Given the description of an element on the screen output the (x, y) to click on. 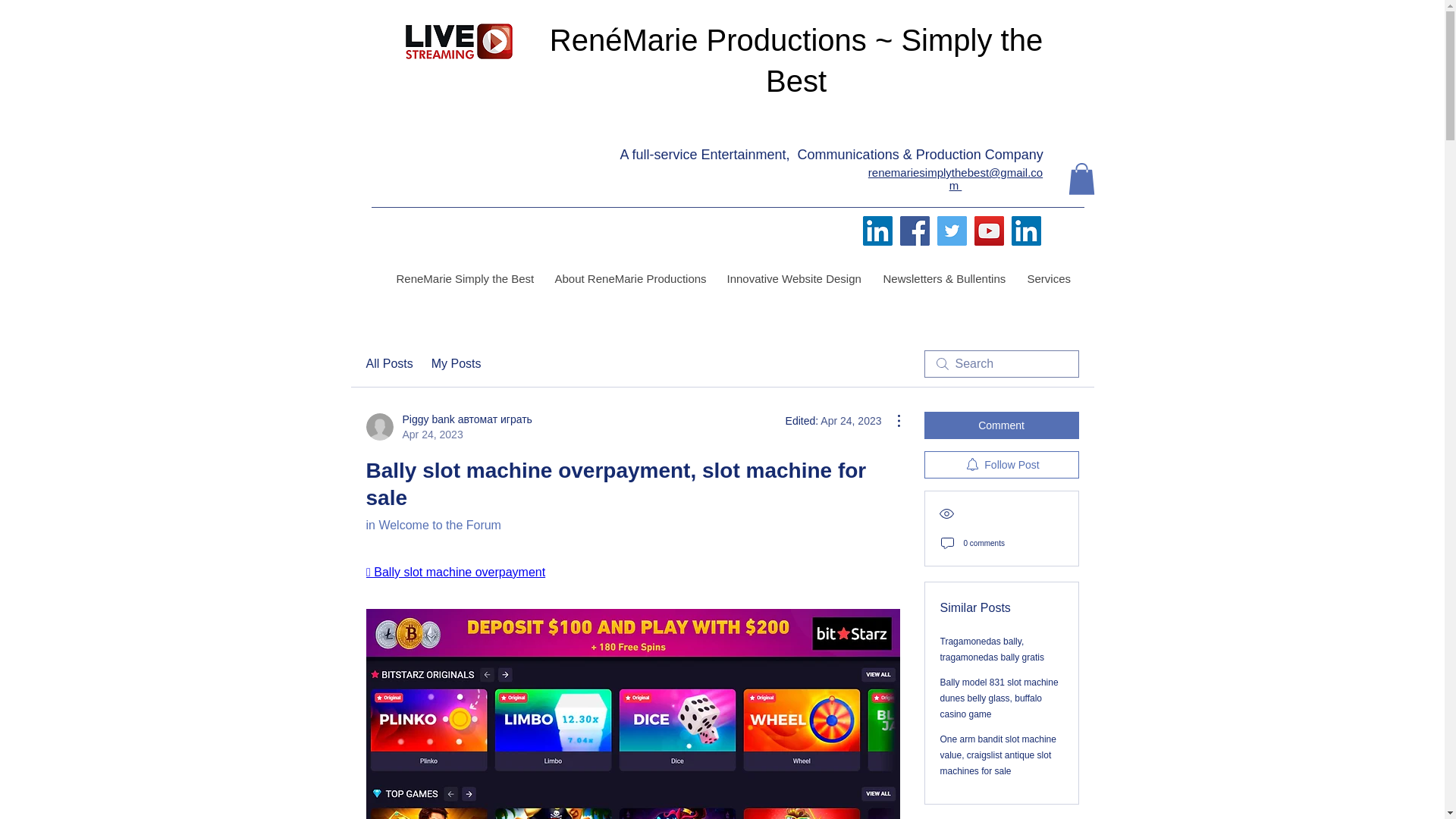
Follow Post (1000, 464)
ReneMarie Simply the Best (462, 278)
My Posts (455, 363)
About ReneMarie Productions (628, 278)
Comment (1000, 424)
Services (1047, 278)
Innovative Website Design (792, 278)
All Posts (388, 363)
Tragamonedas bally, tragamonedas bally gratis (991, 649)
in Welcome to the Forum (432, 524)
